Given the description of an element on the screen output the (x, y) to click on. 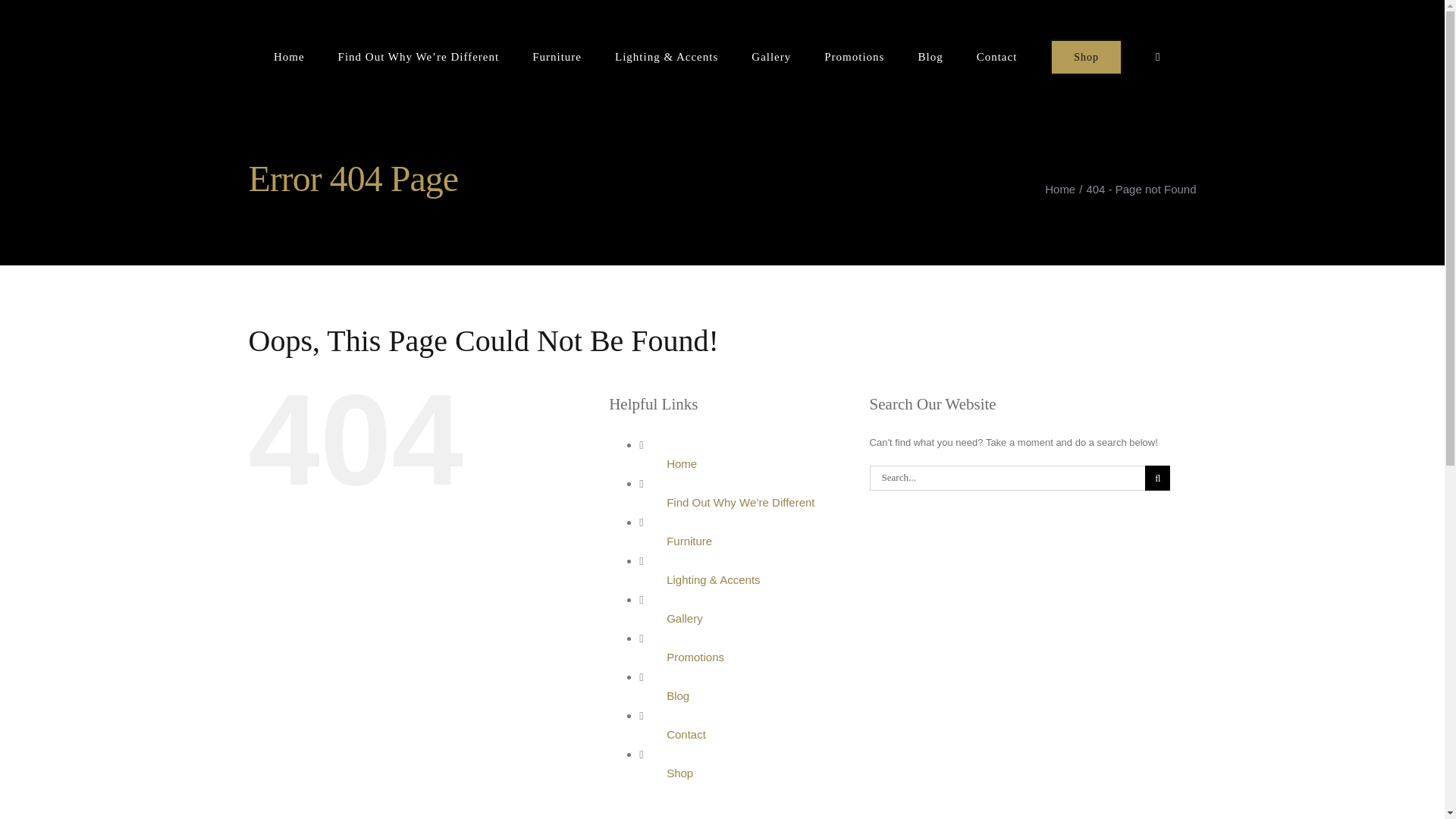
Home (681, 463)
Home (1060, 188)
Shop (679, 772)
Promotions (694, 656)
Gallery (684, 617)
Furniture (688, 540)
Contact (686, 734)
Blog (677, 695)
Shop (1085, 56)
